Given the description of an element on the screen output the (x, y) to click on. 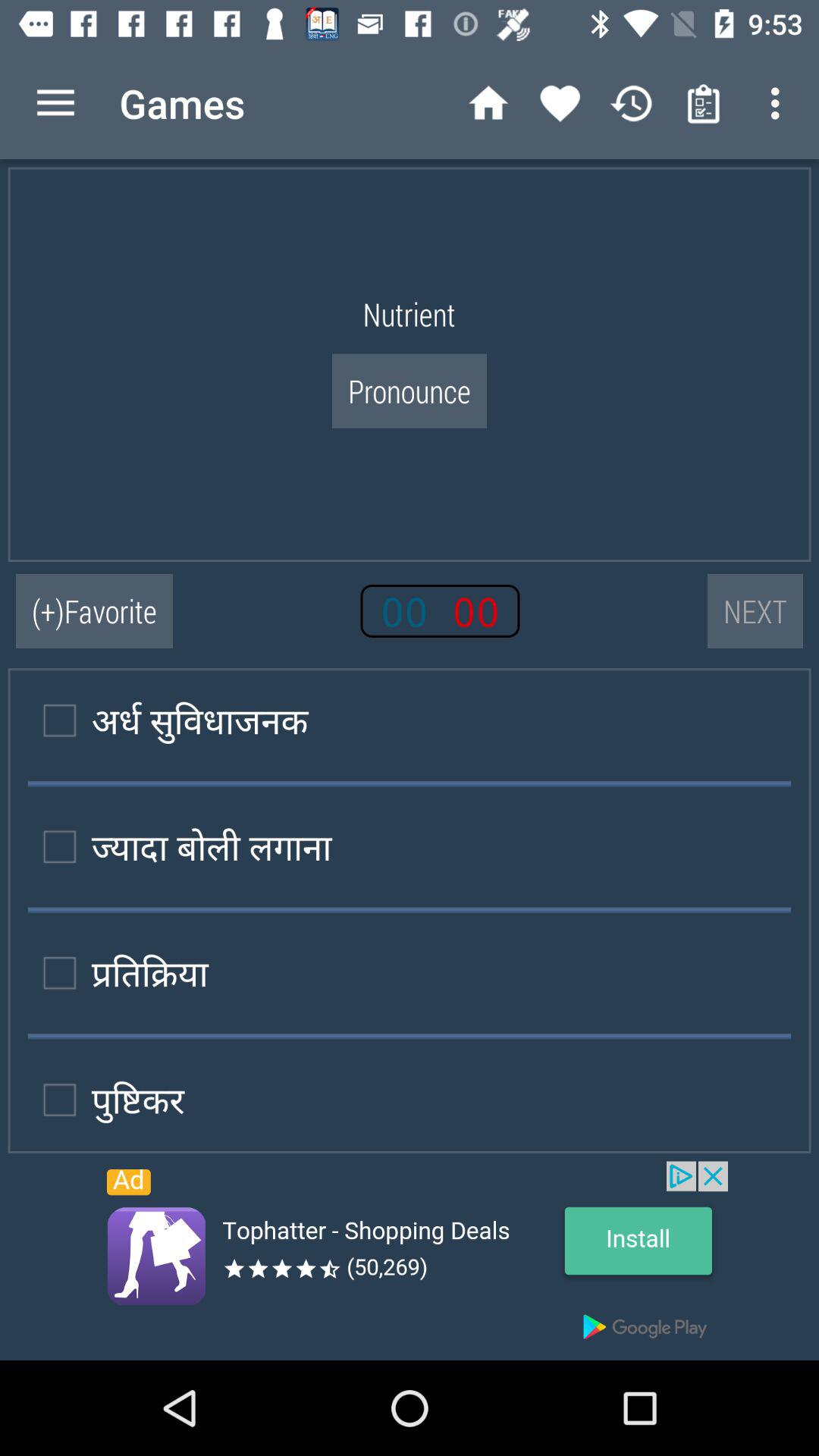
advertisement website (409, 1260)
